Given the description of an element on the screen output the (x, y) to click on. 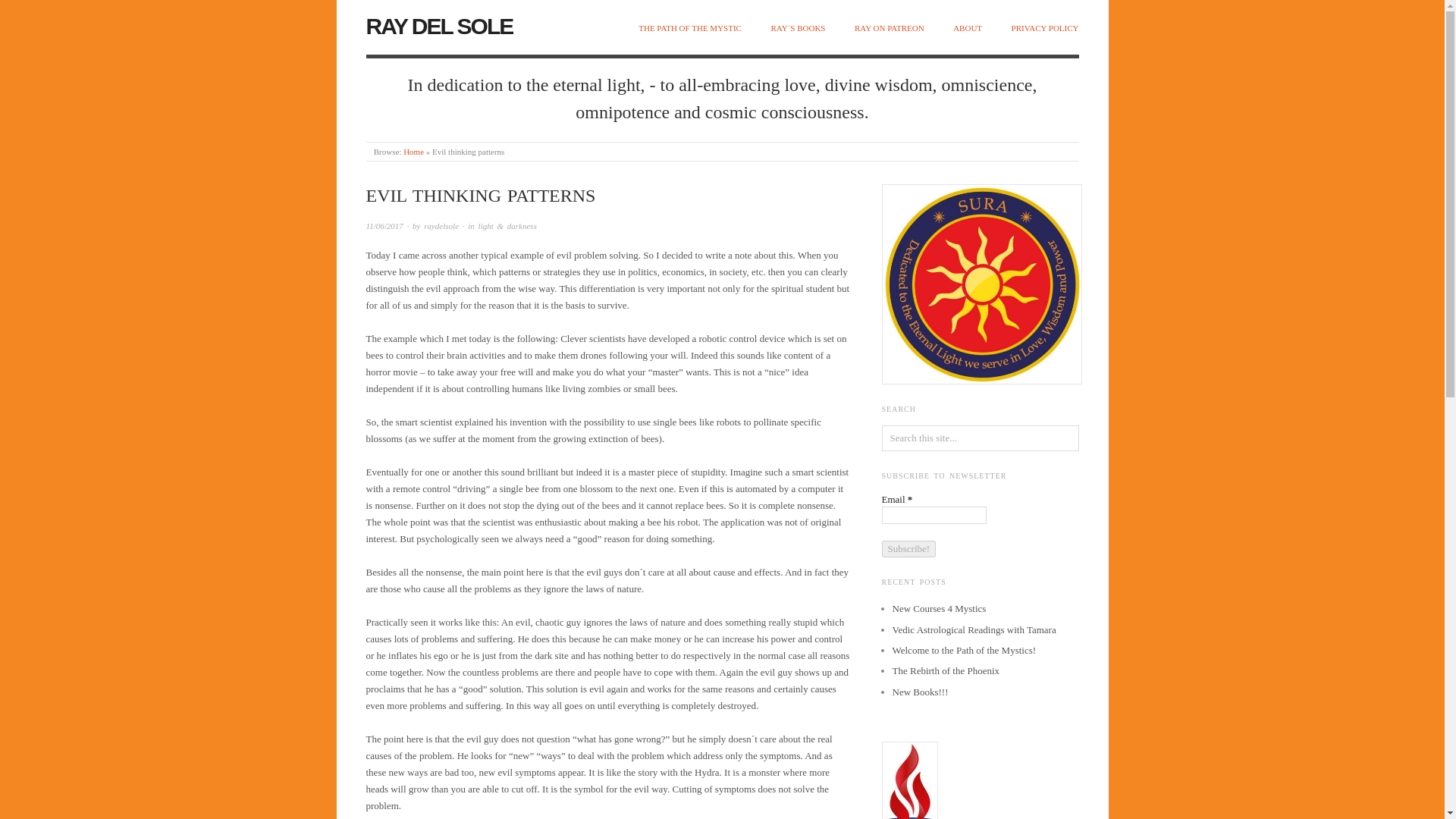
Ray del Sole (413, 151)
Email (932, 515)
Welcome to the Path of the Mystics! (963, 650)
The Rebirth of the Phoenix (944, 670)
Search this site... (979, 438)
Search (22, 12)
New Books!!! (919, 691)
Vedic Astrological Readings with Tamara (973, 629)
RAY DEL SOLE (438, 25)
New Courses 4 Mystics (938, 608)
Subscribe! (908, 548)
Subscribe! (908, 548)
Search this site... (979, 438)
Posts by raydelsole (440, 225)
ABOUT (967, 28)
